Given the description of an element on the screen output the (x, y) to click on. 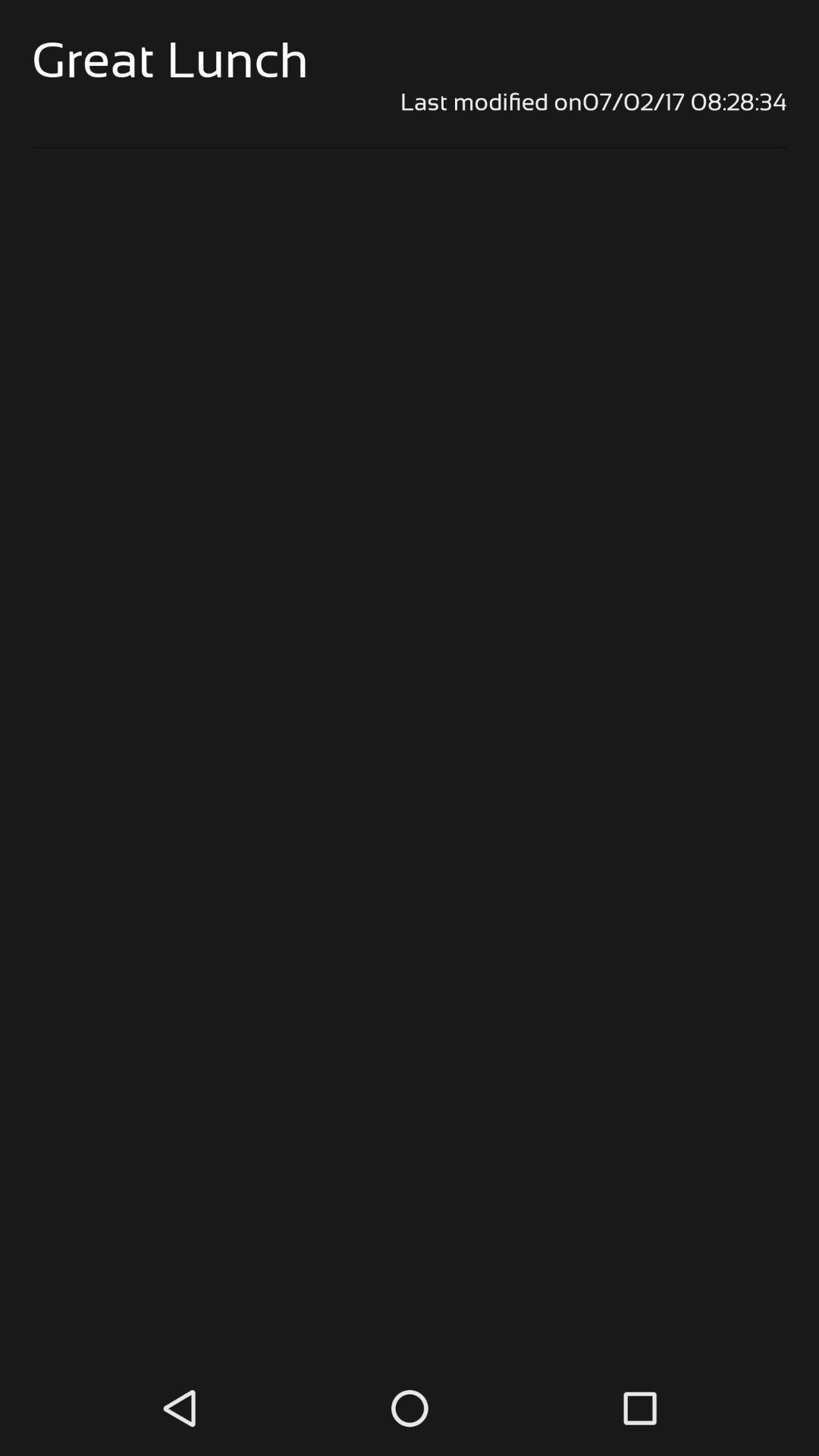
launch the item below the great lunch (409, 101)
